Given the description of an element on the screen output the (x, y) to click on. 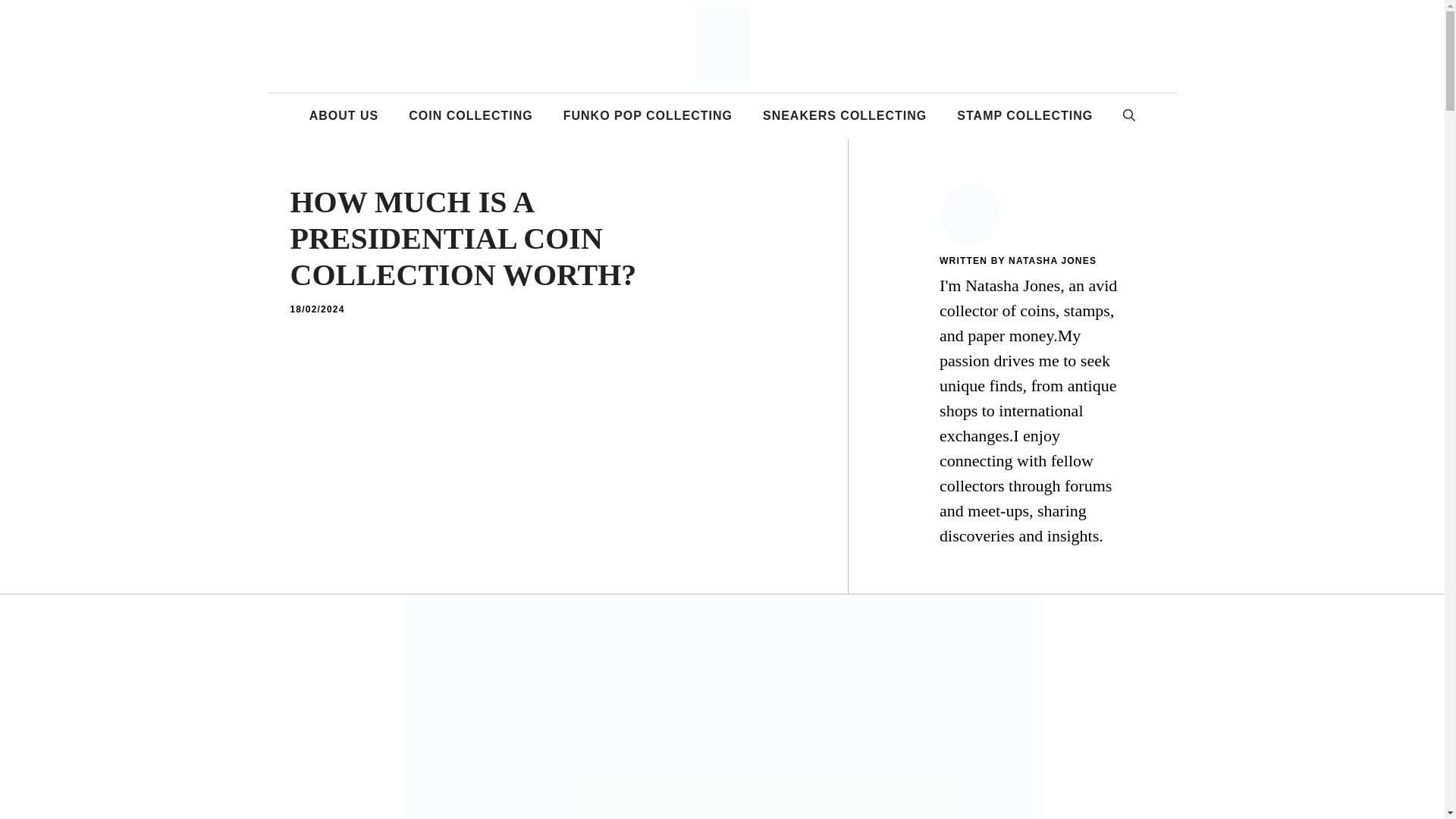
COIN COLLECTING (470, 115)
SNEAKERS COLLECTING (845, 115)
ABOUT US (344, 115)
FUNKO POP COLLECTING (648, 115)
STAMP COLLECTING (1025, 115)
